Given the description of an element on the screen output the (x, y) to click on. 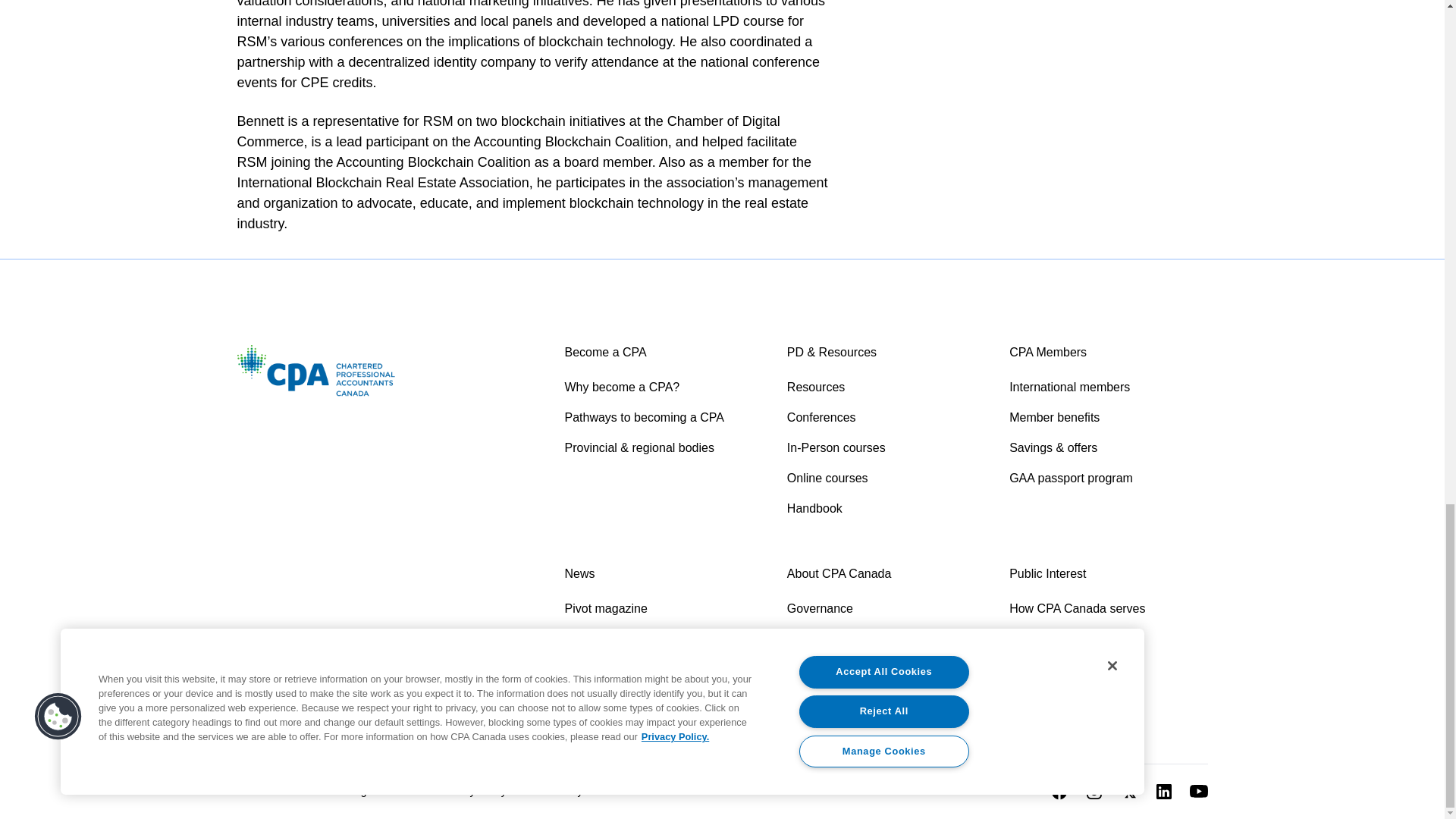
GAA passport program (1108, 478)
Conferences (886, 417)
In-Person courses (886, 447)
Handbook (886, 508)
CPA Members (1047, 351)
Pivot magazine (662, 608)
International members (1108, 387)
Online courses (886, 478)
Resources (886, 387)
Pathways to becoming a CPA (662, 417)
Member benefits (1108, 417)
Become a CPA (605, 351)
Why become a CPA? (662, 387)
News (579, 573)
